Given the description of an element on the screen output the (x, y) to click on. 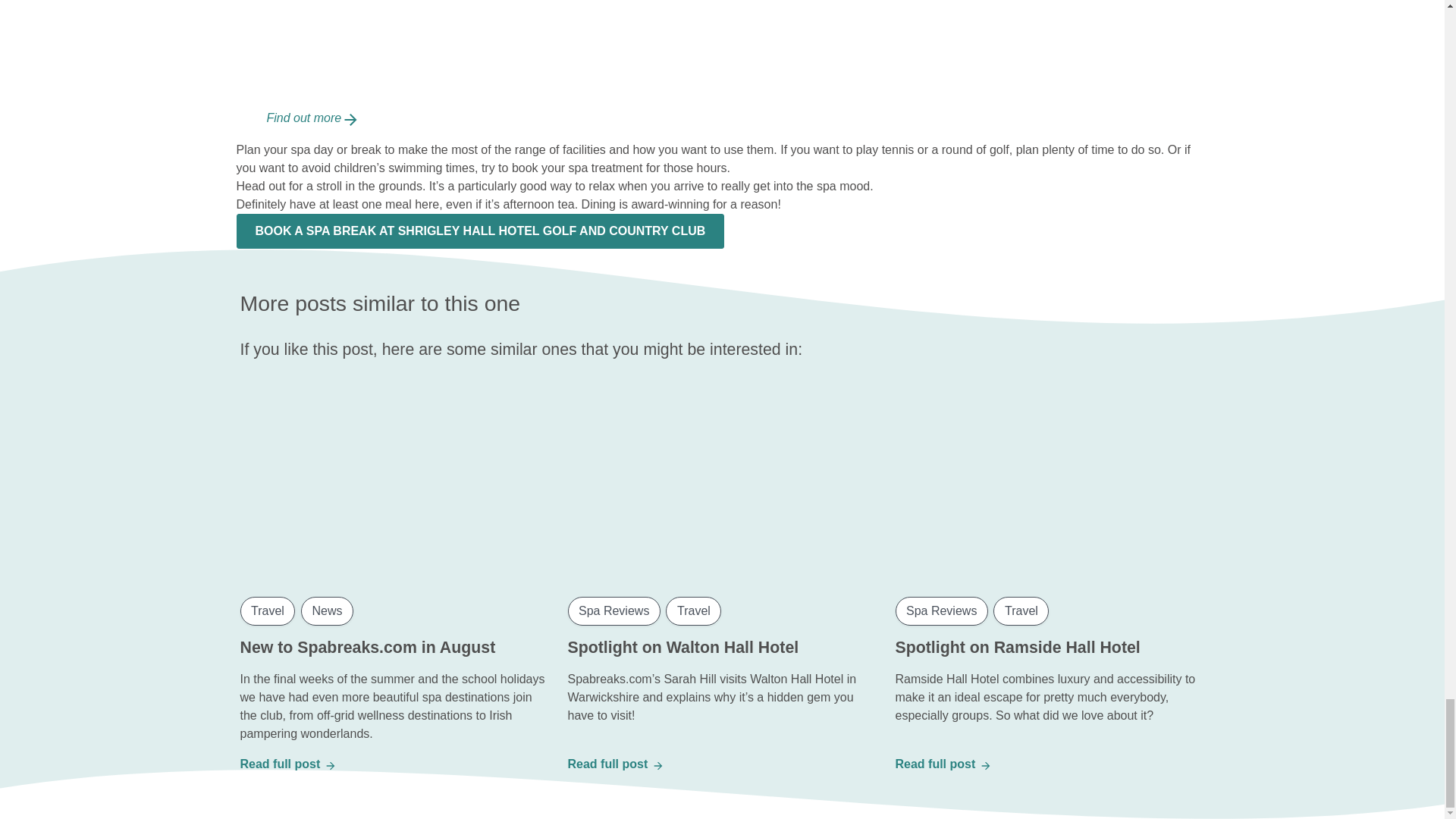
Spotlight on Walton Hall Hotel (682, 647)
Travel (267, 611)
Travel (1020, 611)
Read full post (614, 763)
Find out more (312, 117)
News (327, 611)
Travel (692, 611)
Read full post (287, 763)
Spotlight on Ramside Hall Hotel (1017, 647)
Read full post (942, 763)
